Given the description of an element on the screen output the (x, y) to click on. 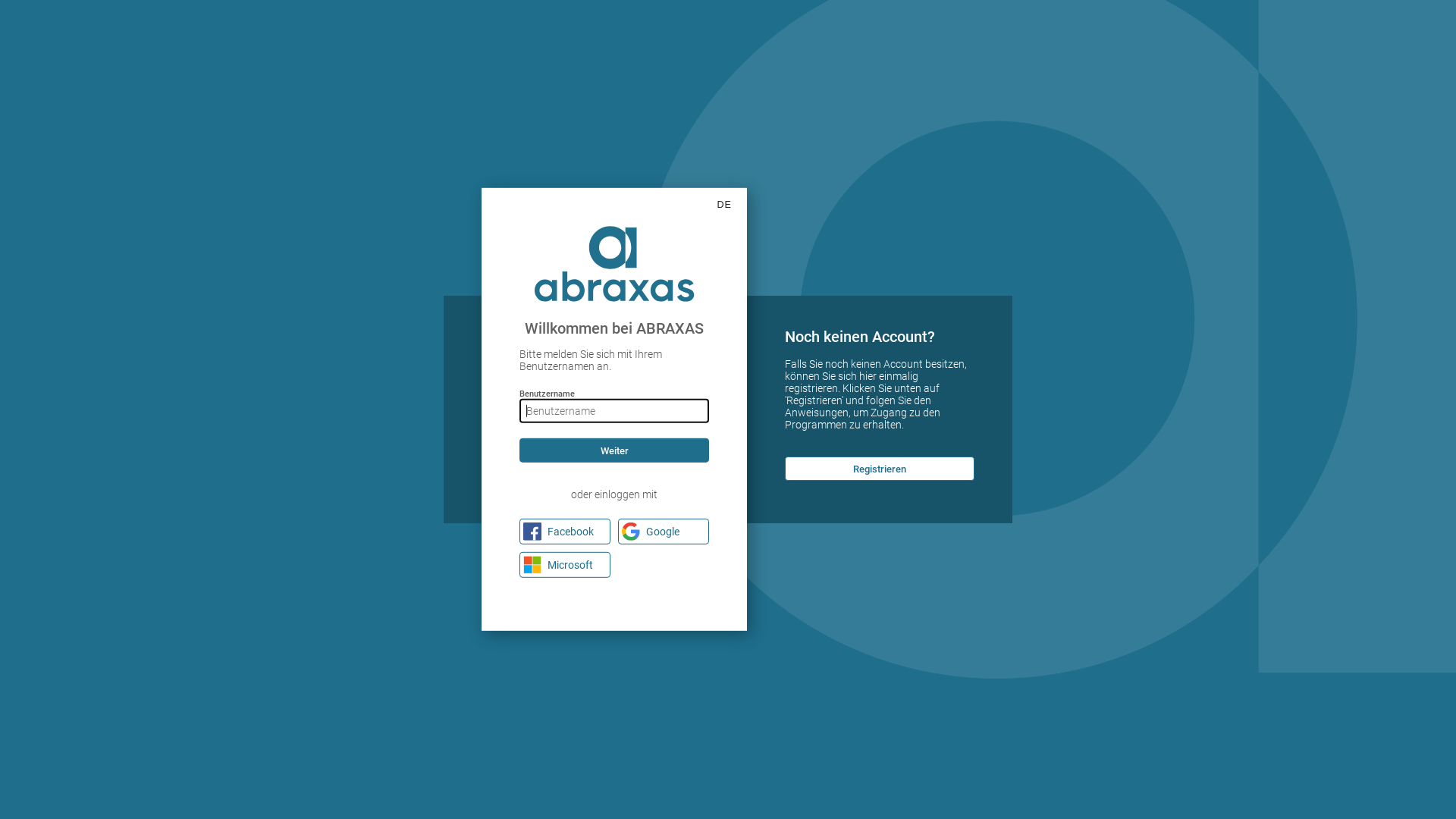
Facebook Element type: text (564, 531)
Google Element type: text (663, 531)
DE Element type: text (724, 204)
Registrieren Element type: text (879, 468)
Weiter Element type: text (614, 450)
Registrieren Element type: text (879, 468)
Microsoft Element type: text (564, 564)
